Given the description of an element on the screen output the (x, y) to click on. 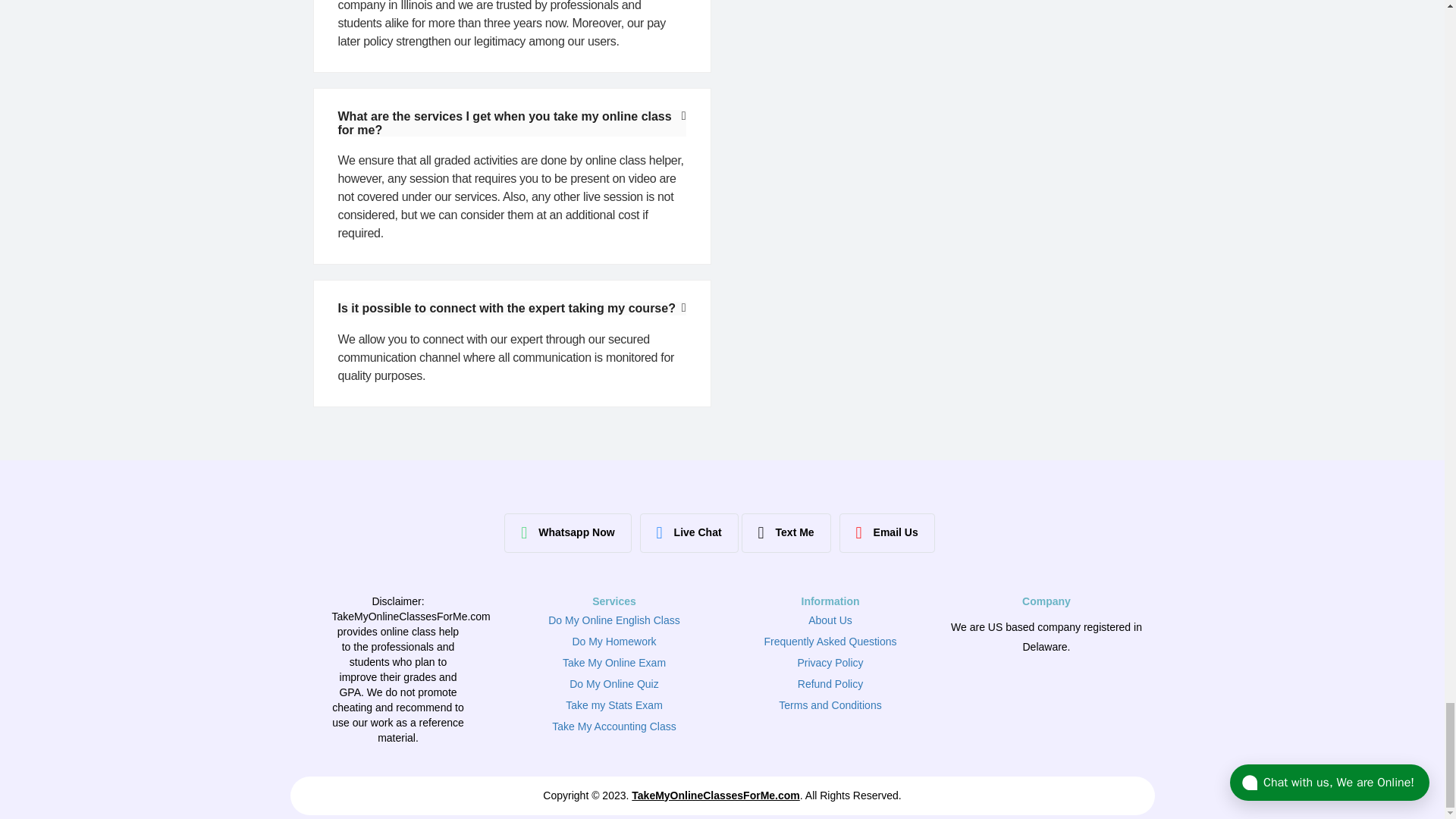
Email Us (887, 532)
Do My Homework (614, 641)
Text Me (786, 532)
Whatsapp Now (566, 532)
Do My Online English Class (613, 620)
Is it possible to connect with the expert taking my course? (506, 308)
Take My Online Exam (613, 662)
Live Chat (689, 532)
